Given the description of an element on the screen output the (x, y) to click on. 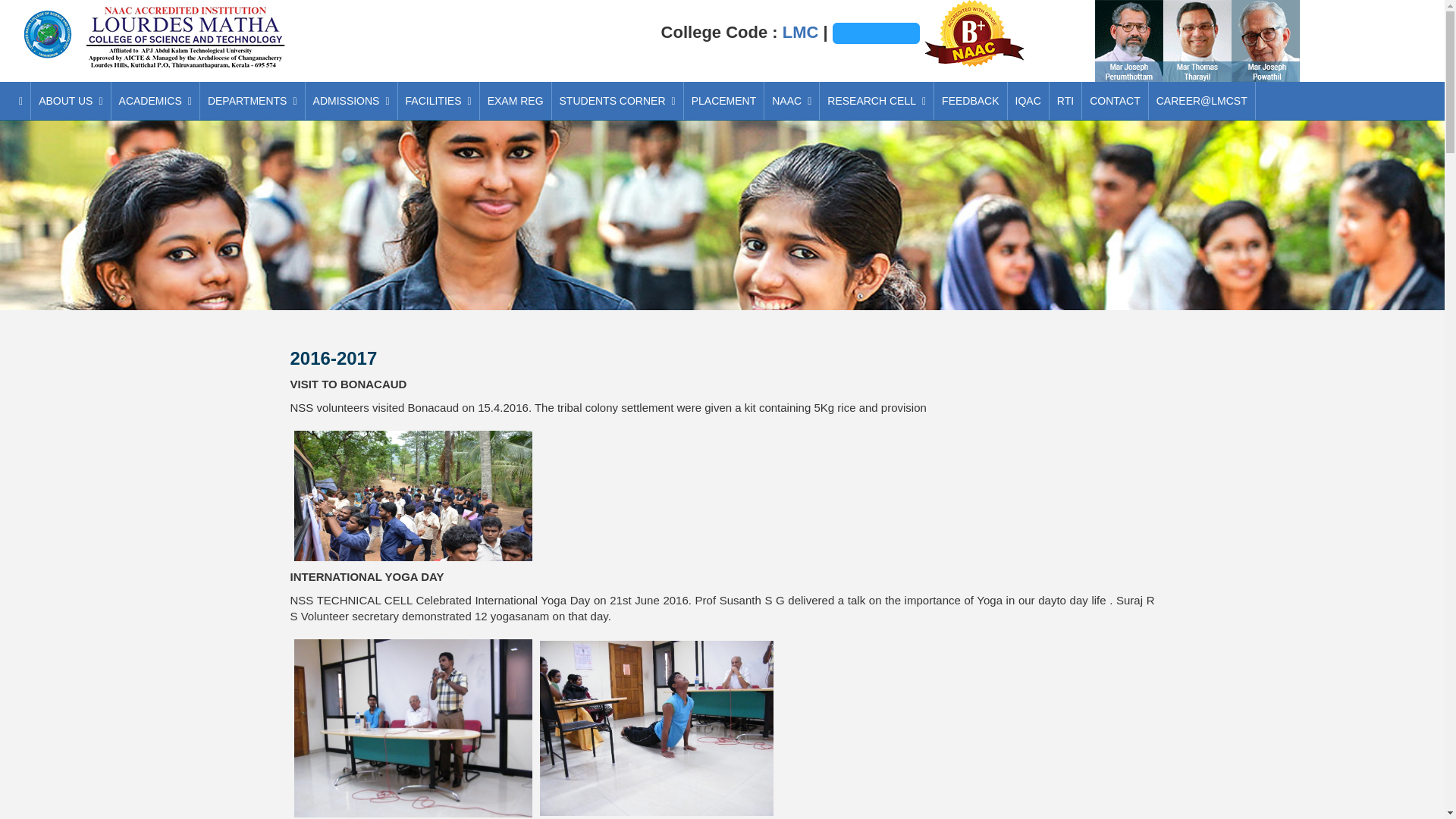
DEPARTMENTS (252, 100)
ACADEMICS (155, 100)
ADMISSIONS (351, 100)
ABOUT US (70, 100)
